Given the description of an element on the screen output the (x, y) to click on. 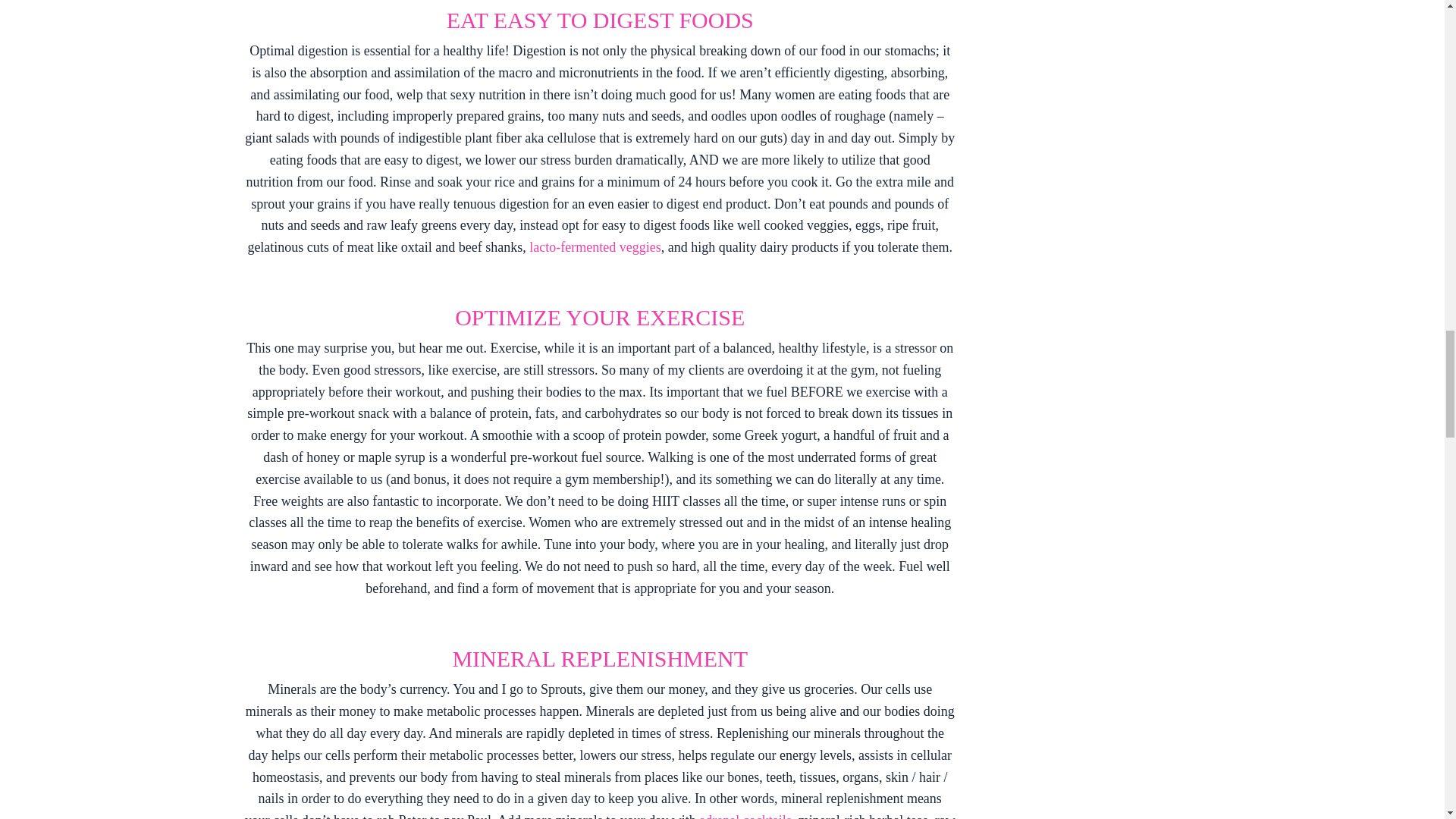
lacto-fermented veggies (595, 246)
adrenal cocktails (744, 816)
